Given the description of an element on the screen output the (x, y) to click on. 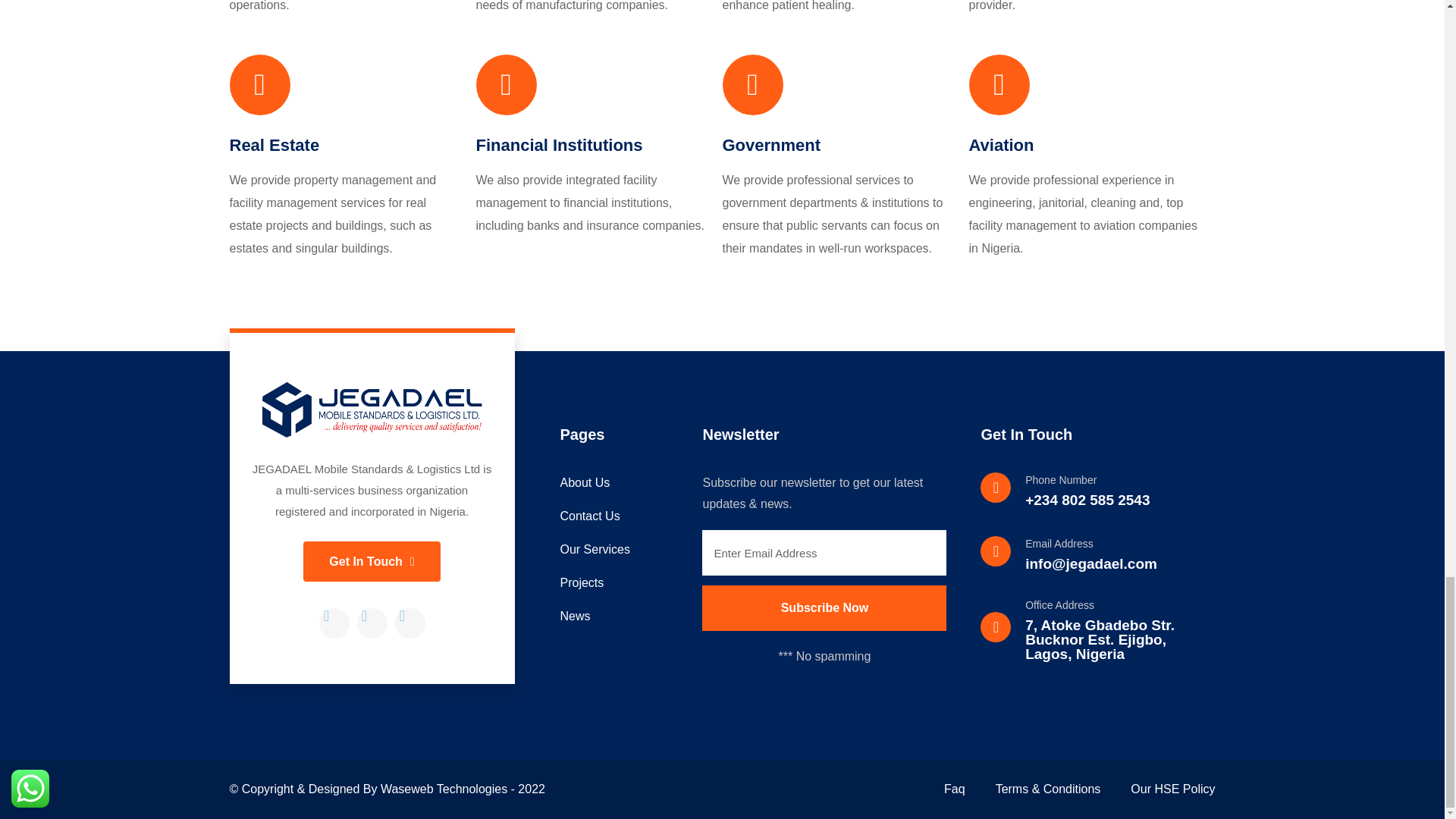
Subscribe Now (823, 607)
